Given the description of an element on the screen output the (x, y) to click on. 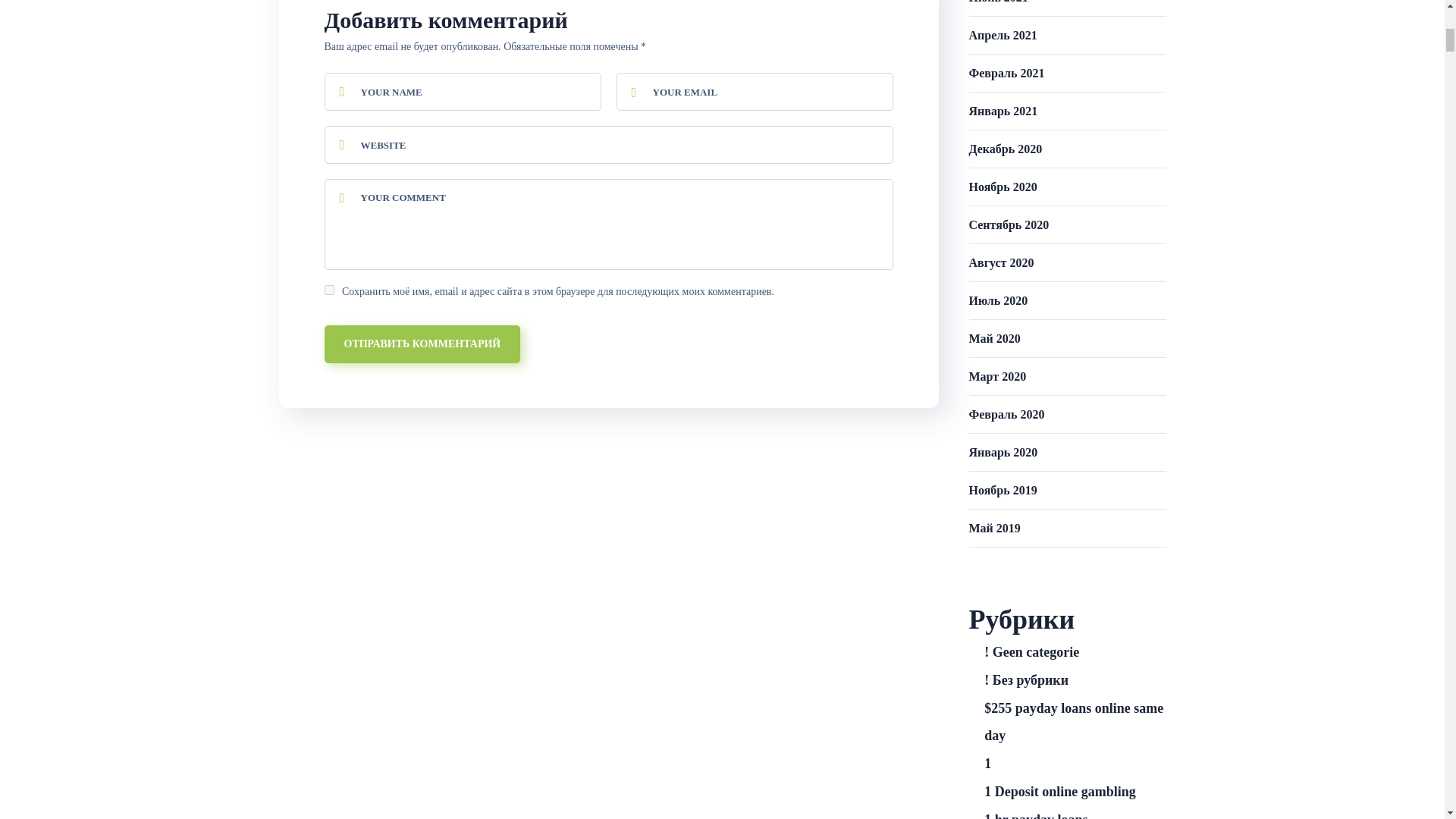
WEBSITE (608, 144)
YOUR NAME (462, 91)
yes (329, 289)
YOUR EMAIL (753, 91)
